Given the description of an element on the screen output the (x, y) to click on. 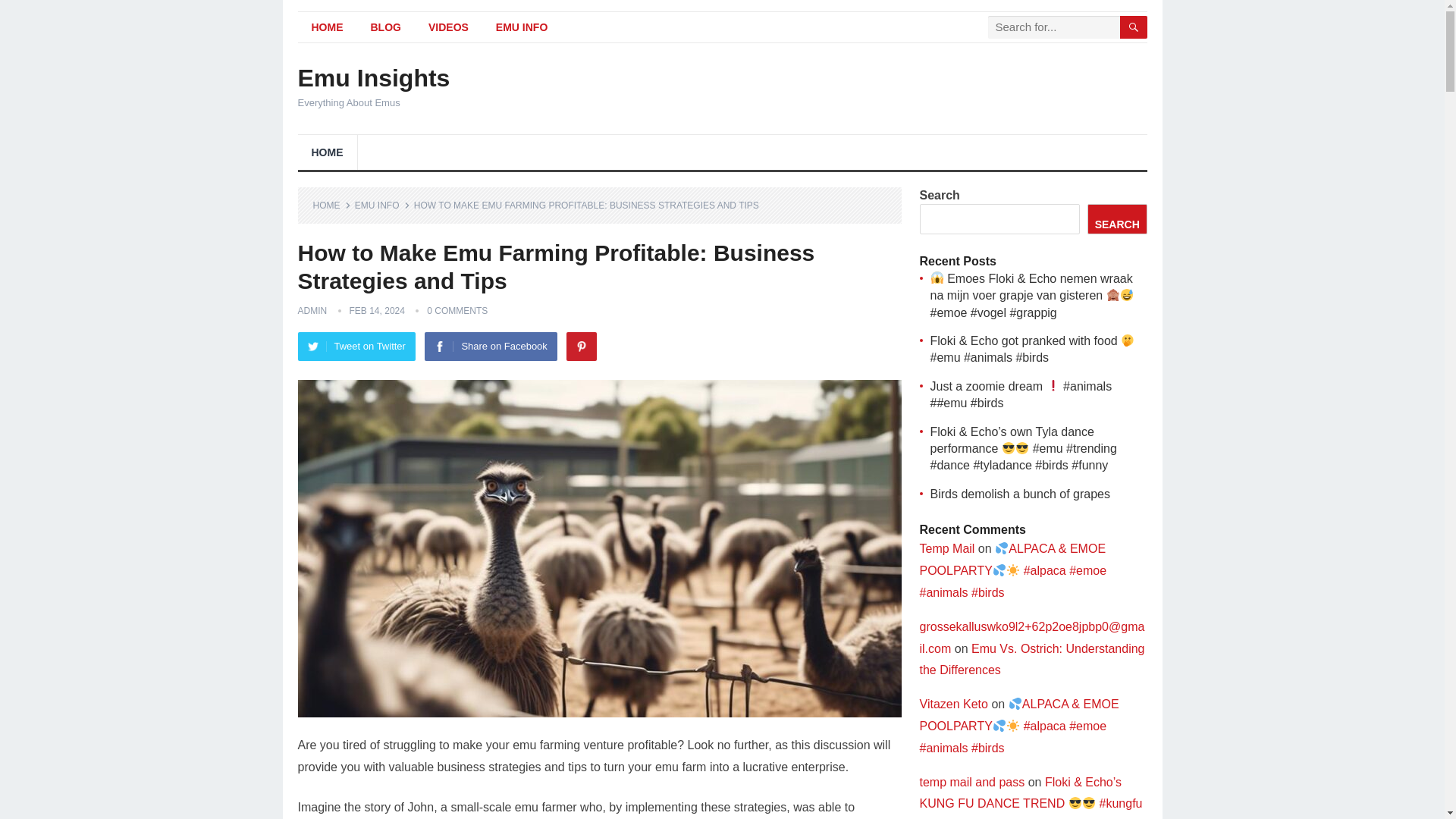
Posts by Admin (311, 310)
HOME (326, 27)
HOME (326, 152)
Pinterest (581, 346)
0 COMMENTS (456, 310)
View all posts in Emu Info (382, 204)
Tweet on Twitter (355, 346)
SEARCH (1117, 218)
EMU INFO (520, 27)
HOME (331, 204)
VIDEOS (447, 27)
ADMIN (311, 310)
Emu Insights (373, 78)
EMU INFO (382, 204)
BLOG (384, 27)
